Given the description of an element on the screen output the (x, y) to click on. 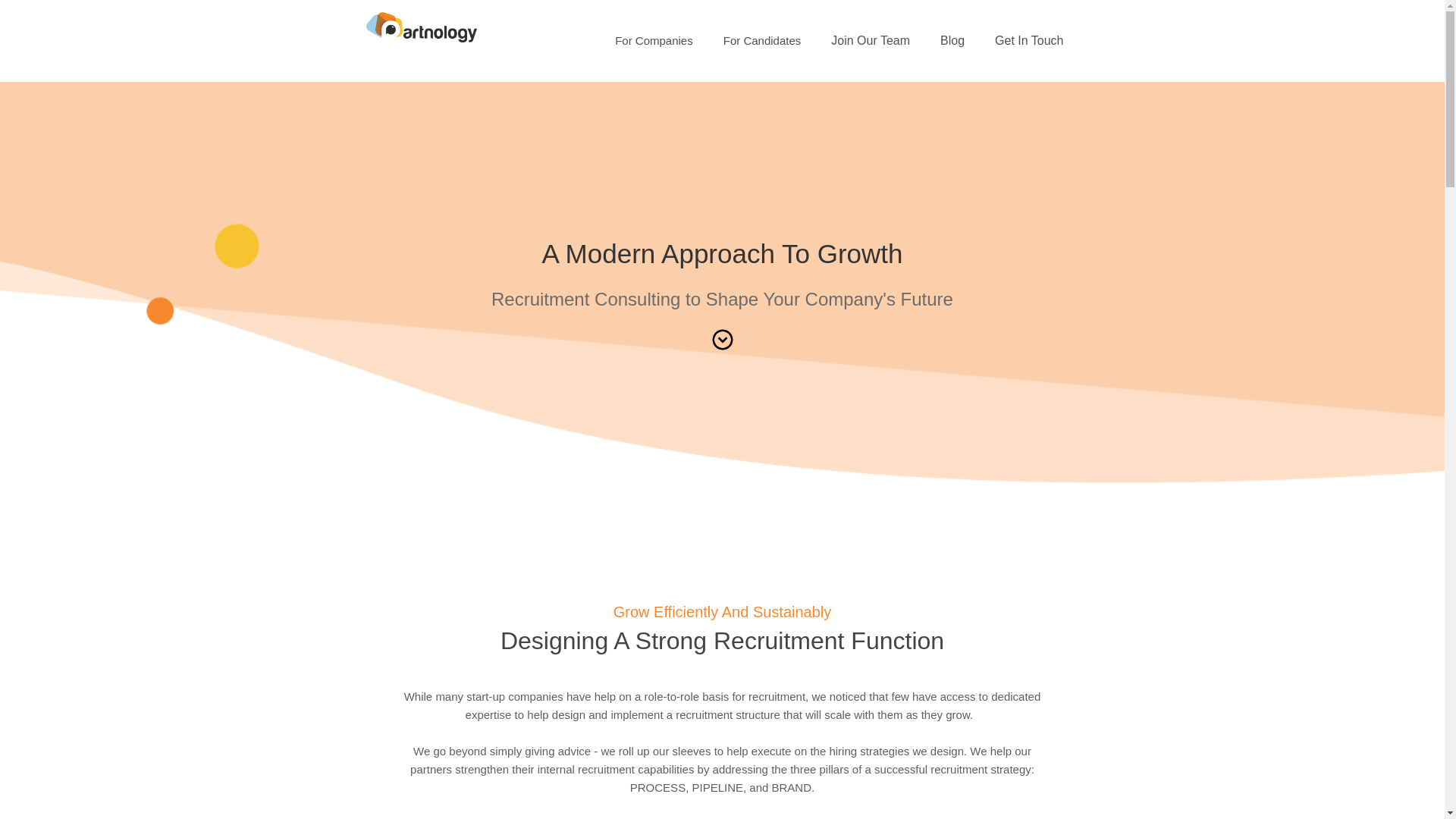
Get In Touch (1028, 40)
Join Our Team (869, 40)
Blog (951, 40)
